Given the description of an element on the screen output the (x, y) to click on. 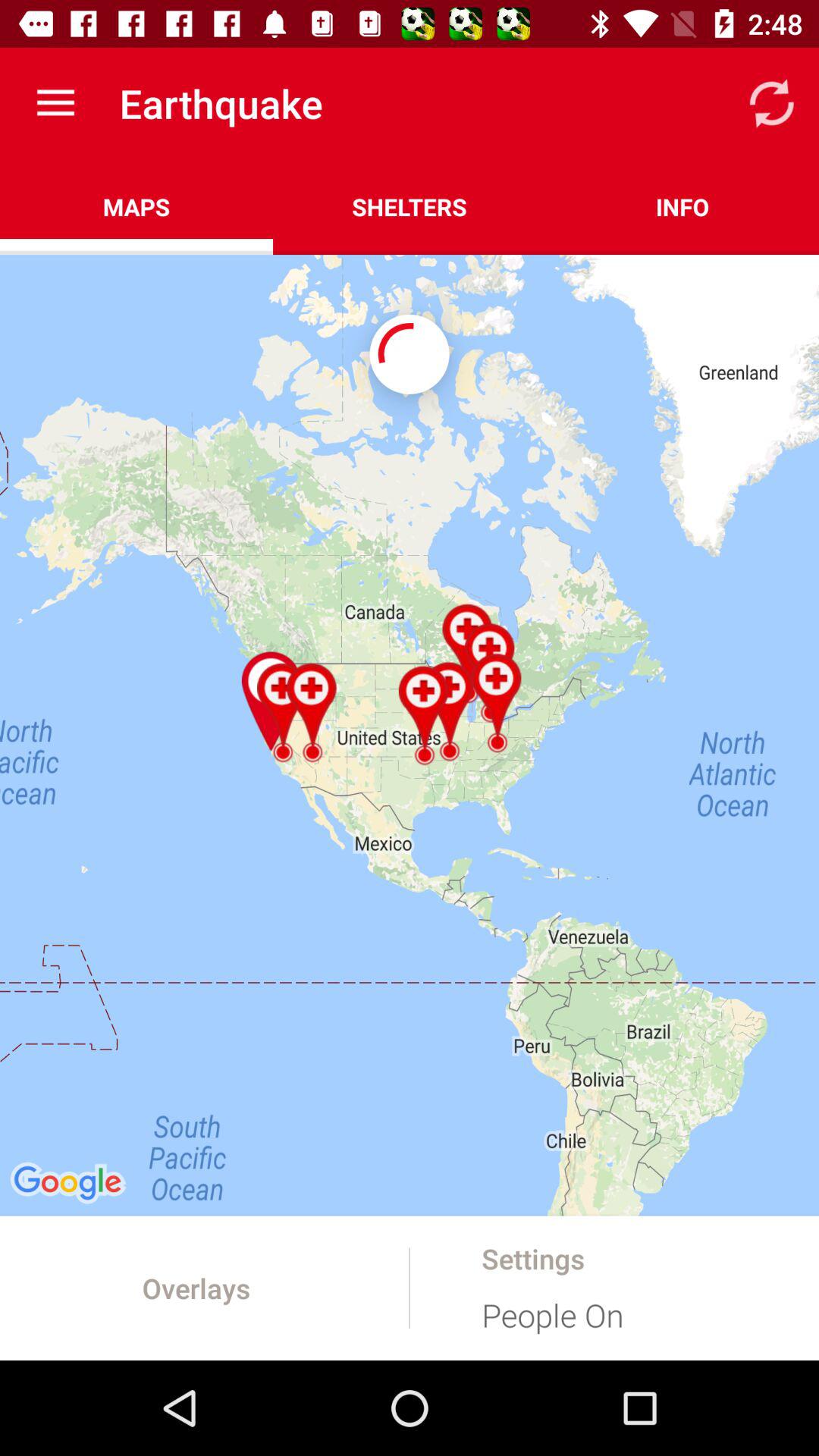
scroll until the maps item (136, 206)
